Given the description of an element on the screen output the (x, y) to click on. 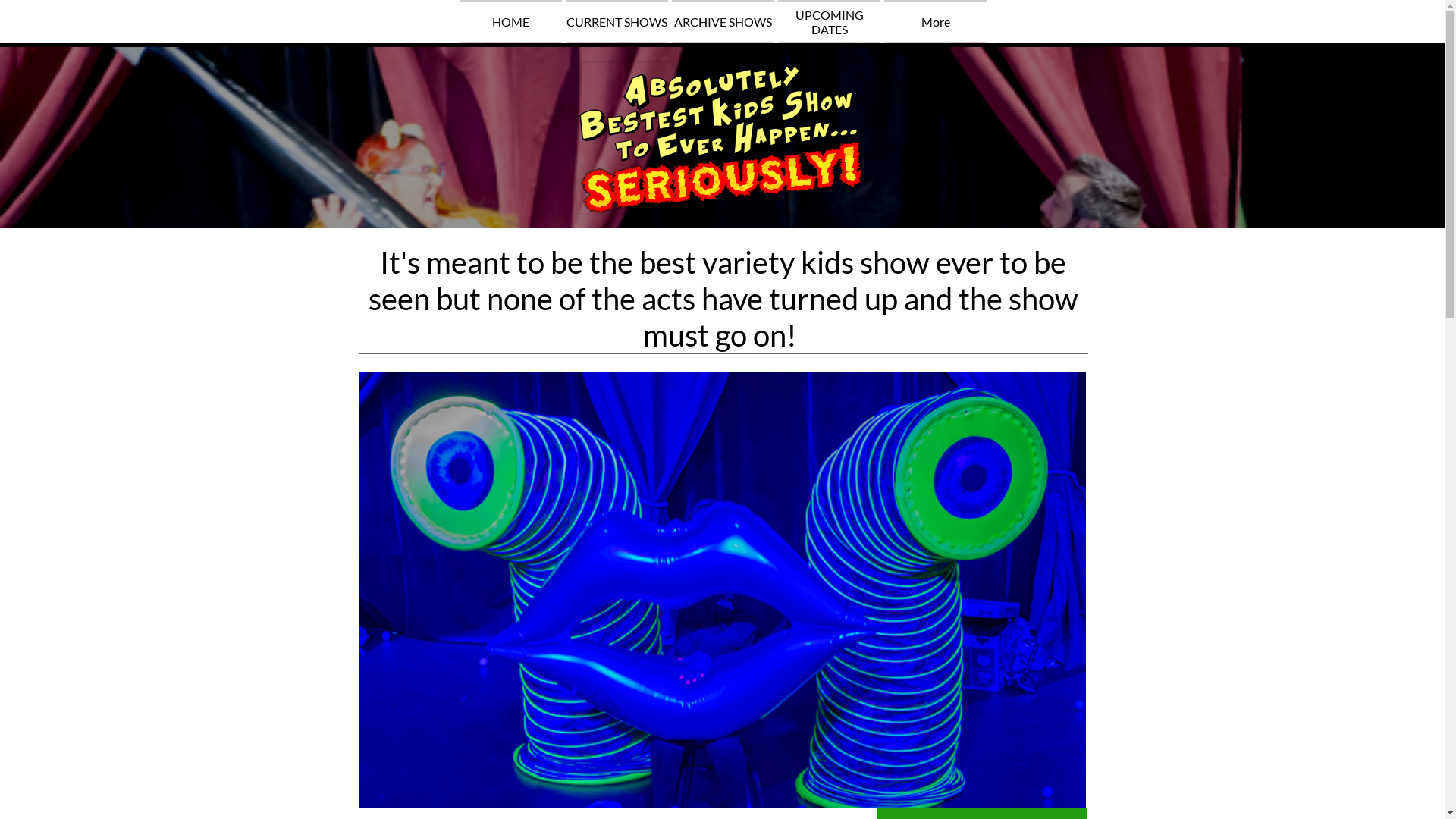
HOME Element type: text (510, 21)
ARCHIVE SHOWS Element type: text (722, 21)
UPCOMING DATES Element type: text (829, 21)
CURRENT SHOWS Element type: text (616, 21)
